Given the description of an element on the screen output the (x, y) to click on. 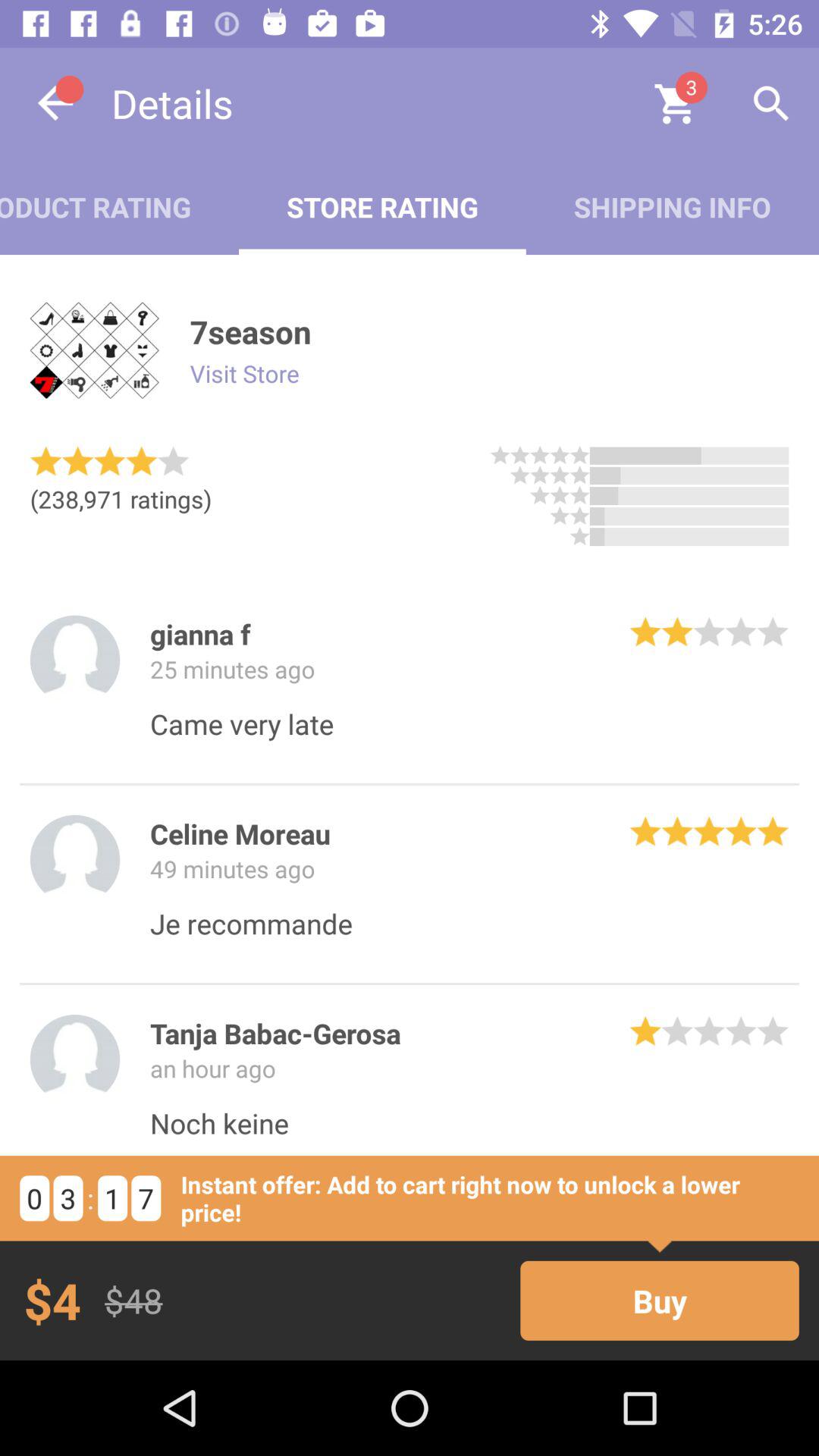
select the icon next to the $48 (659, 1300)
